Given the description of an element on the screen output the (x, y) to click on. 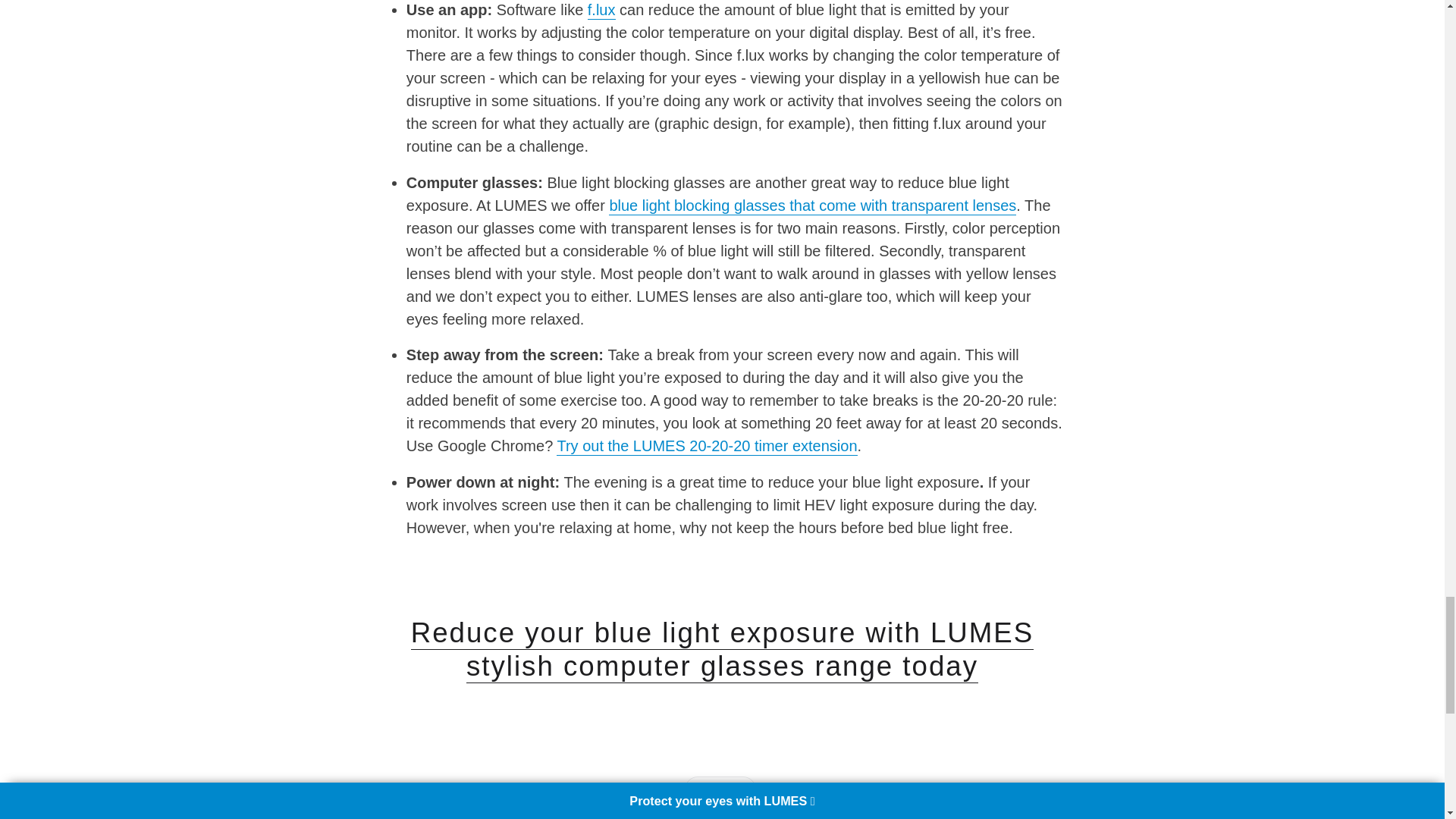
f.lux (601, 10)
